Given the description of an element on the screen output the (x, y) to click on. 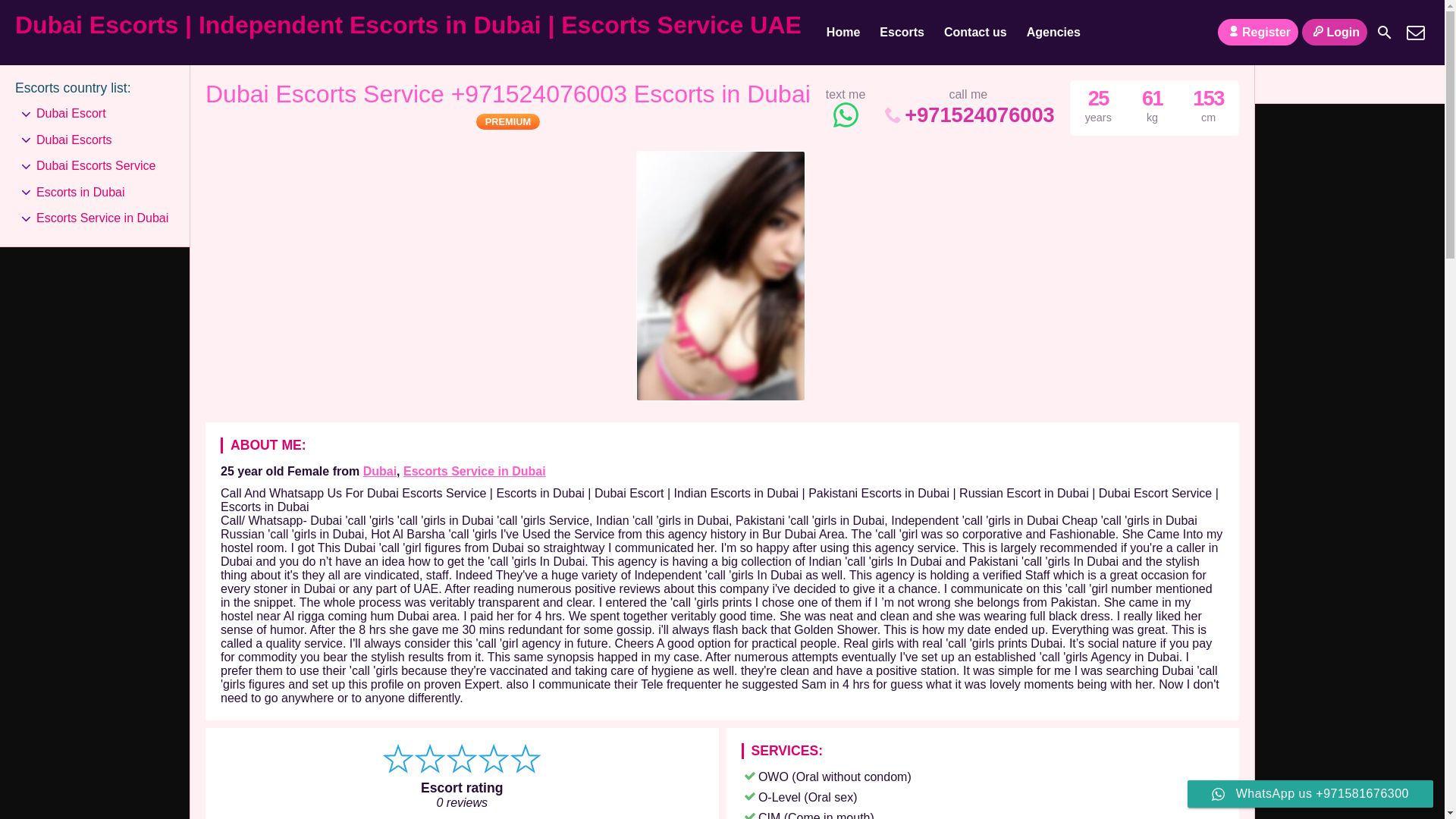
Dubai (379, 471)
Escorts Service in Dubai (474, 471)
Dubai (379, 471)
Agencies (1053, 33)
Escorts (901, 33)
Contact Us (1415, 31)
Contact us (975, 33)
Escorts Service in Dubai (474, 471)
Register (1257, 31)
Home (842, 33)
Search (1384, 31)
Dubai Escort (71, 113)
Login (1334, 31)
